Given the description of an element on the screen output the (x, y) to click on. 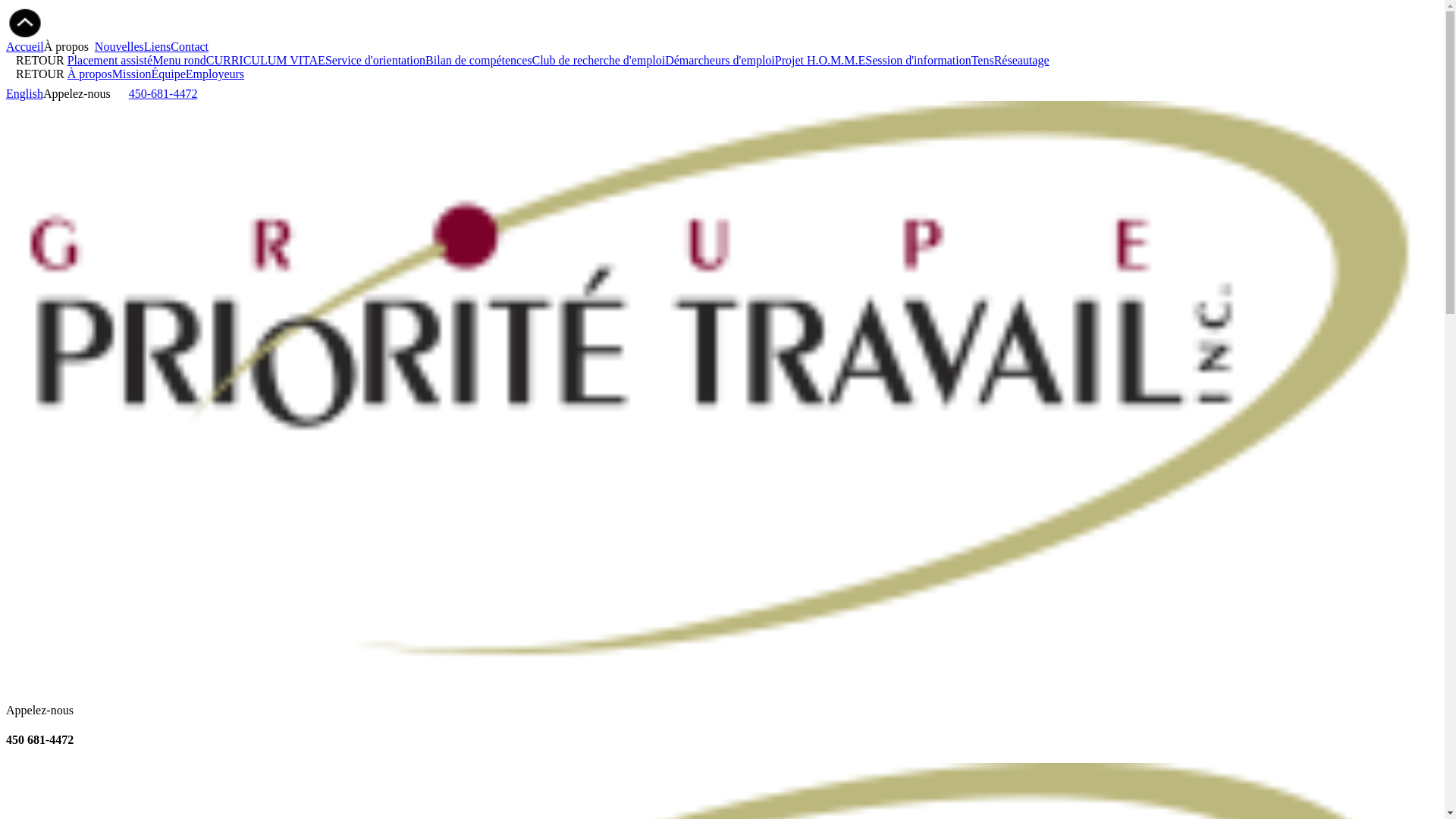
Employeurs Element type: text (214, 73)
Menu rond Element type: text (179, 59)
Nouvelles Element type: text (119, 46)
CURRICULUM VITAE Element type: text (265, 59)
Service d'orientation Element type: text (375, 59)
RETOUR Element type: text (36, 59)
Tens Element type: text (982, 59)
Mission Element type: text (131, 73)
450-681-4472 Element type: text (162, 93)
RETOUR Element type: text (36, 73)
English Element type: text (24, 93)
Accueil Element type: text (24, 46)
Liens Element type: text (157, 46)
Club de recherche d'emploi Element type: text (598, 59)
Contact Element type: text (189, 46)
Session d'information Element type: text (917, 59)
Projet H.O.M.M.E Element type: text (820, 59)
